Given the description of an element on the screen output the (x, y) to click on. 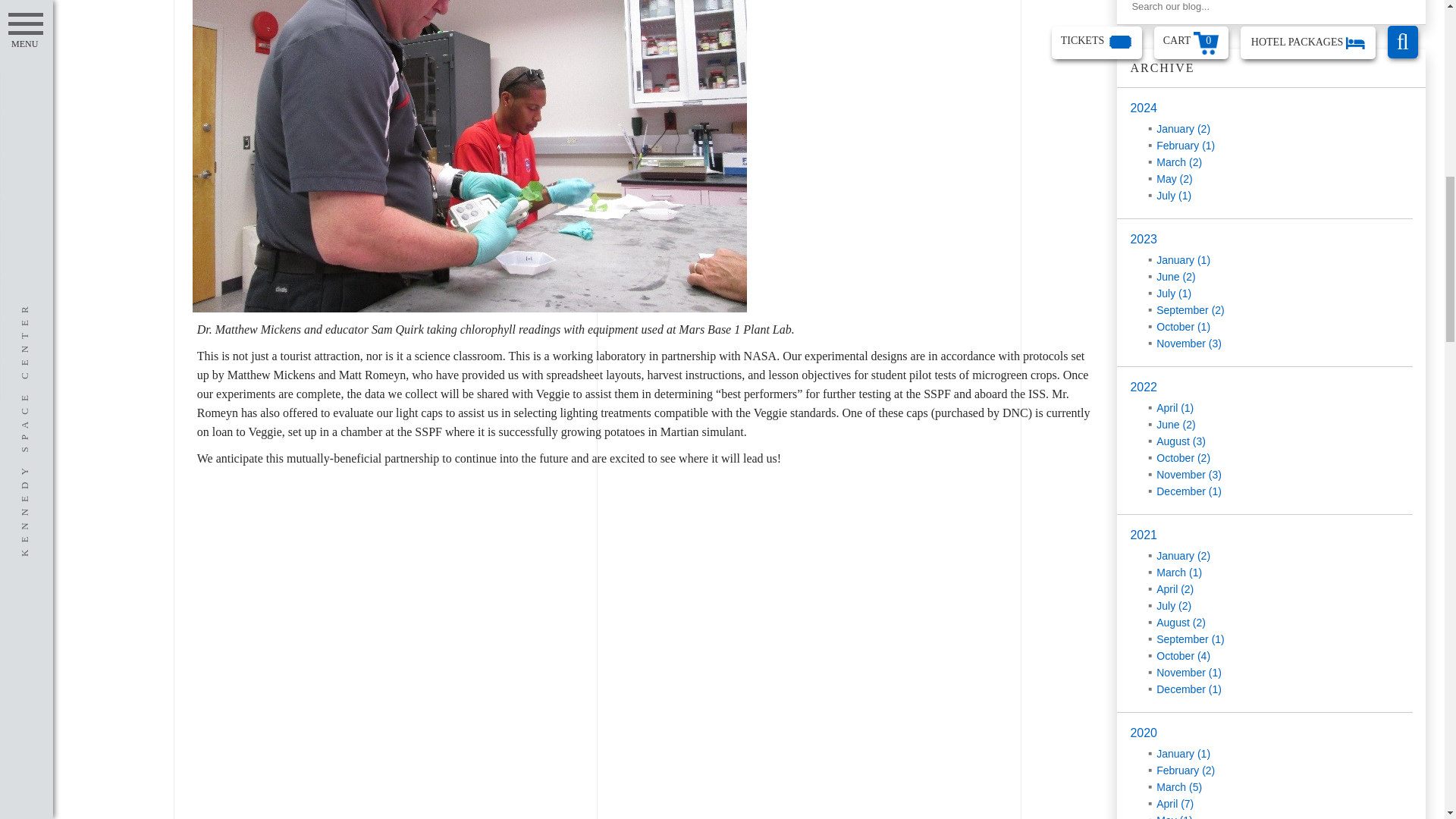
Search (1393, 9)
